Given the description of an element on the screen output the (x, y) to click on. 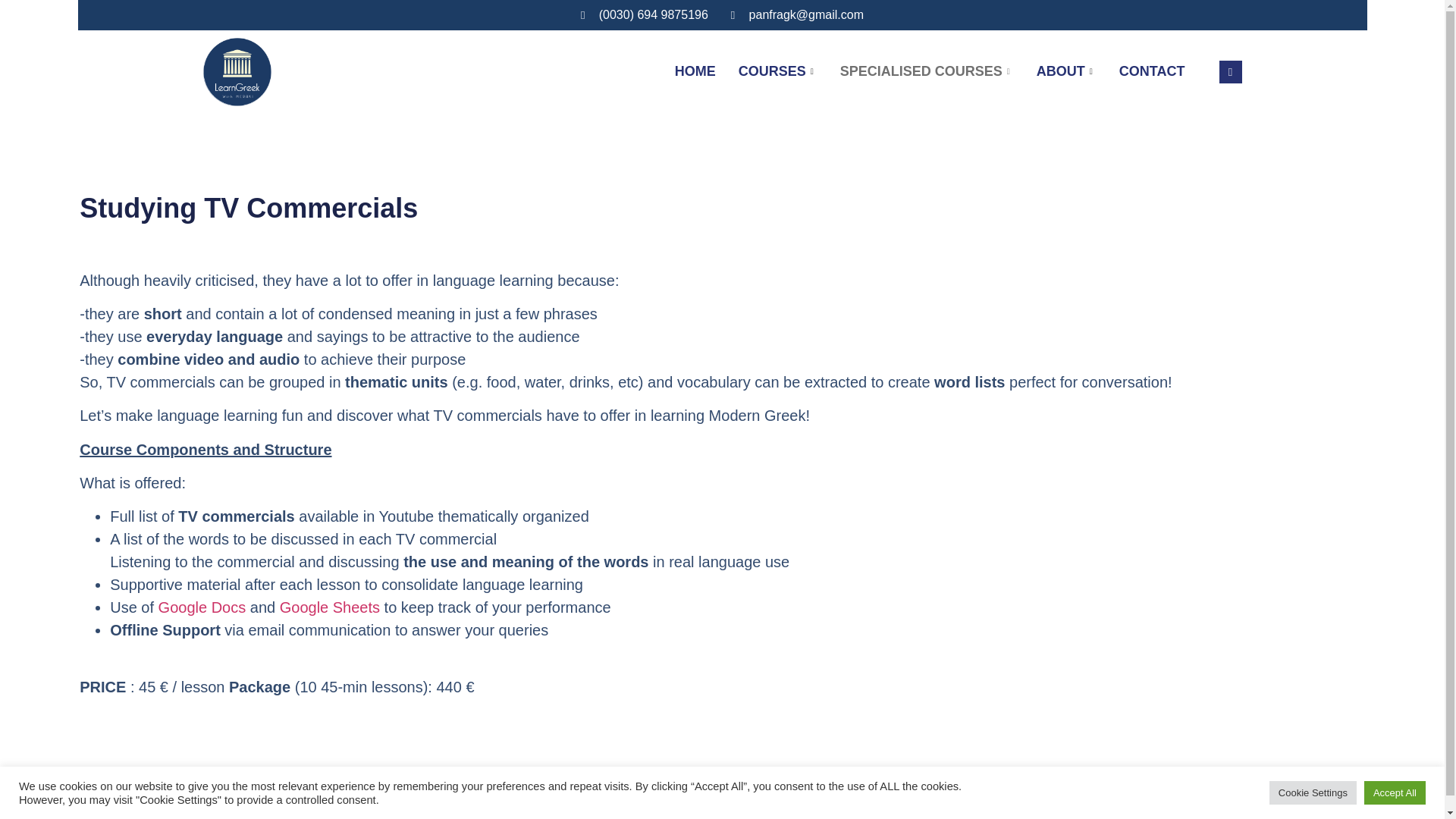
Google Sheets (329, 606)
Google Docs (202, 606)
Cookie Settings (1312, 792)
CONTACT (1152, 71)
COURSES (777, 71)
AreosWeb (774, 809)
Accept All (1394, 792)
ABOUT (1066, 71)
SPECIALISED COURSES (926, 71)
HOME (694, 71)
